Given the description of an element on the screen output the (x, y) to click on. 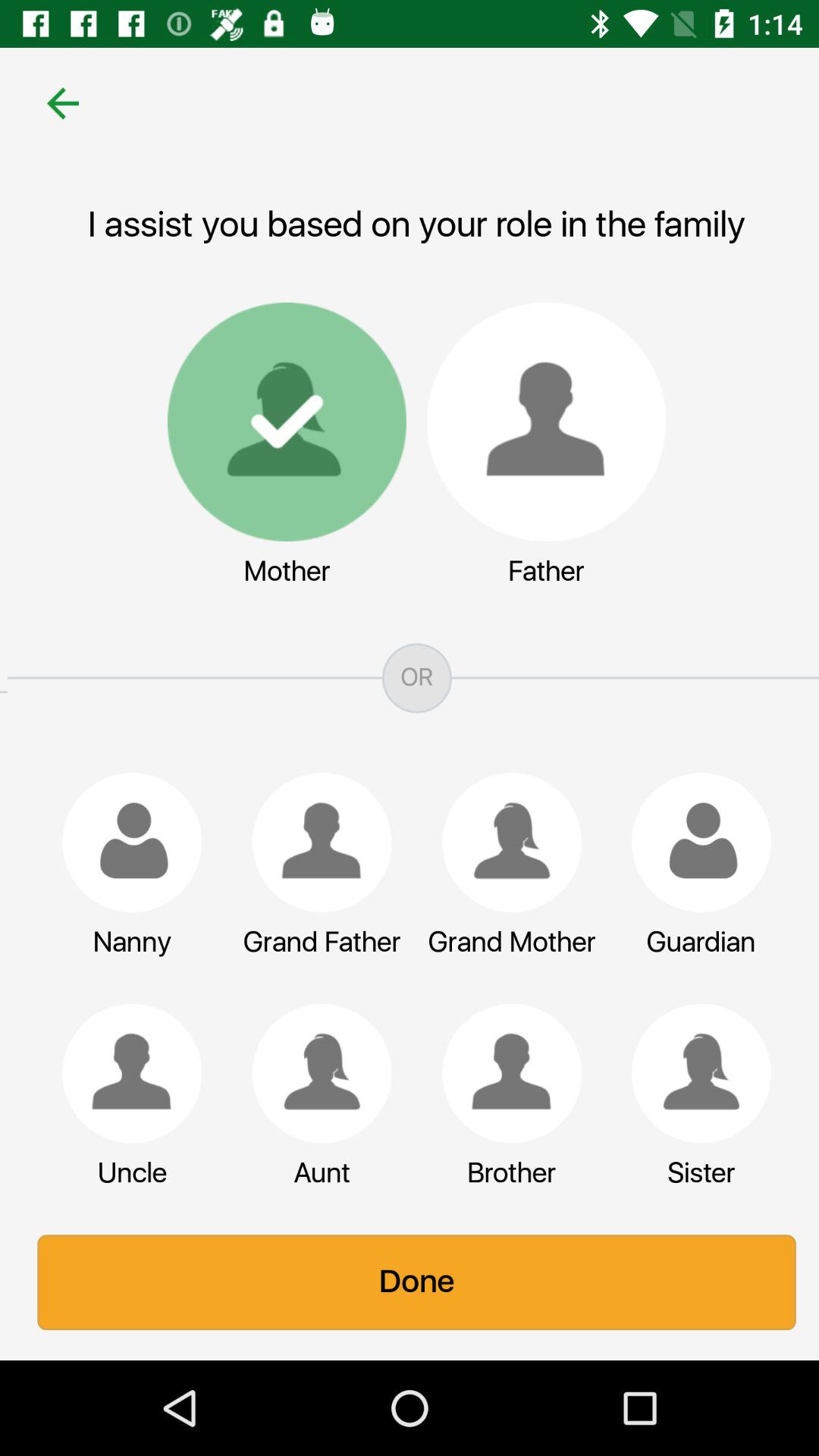
turn on icon above the sister (693, 1073)
